Given the description of an element on the screen output the (x, y) to click on. 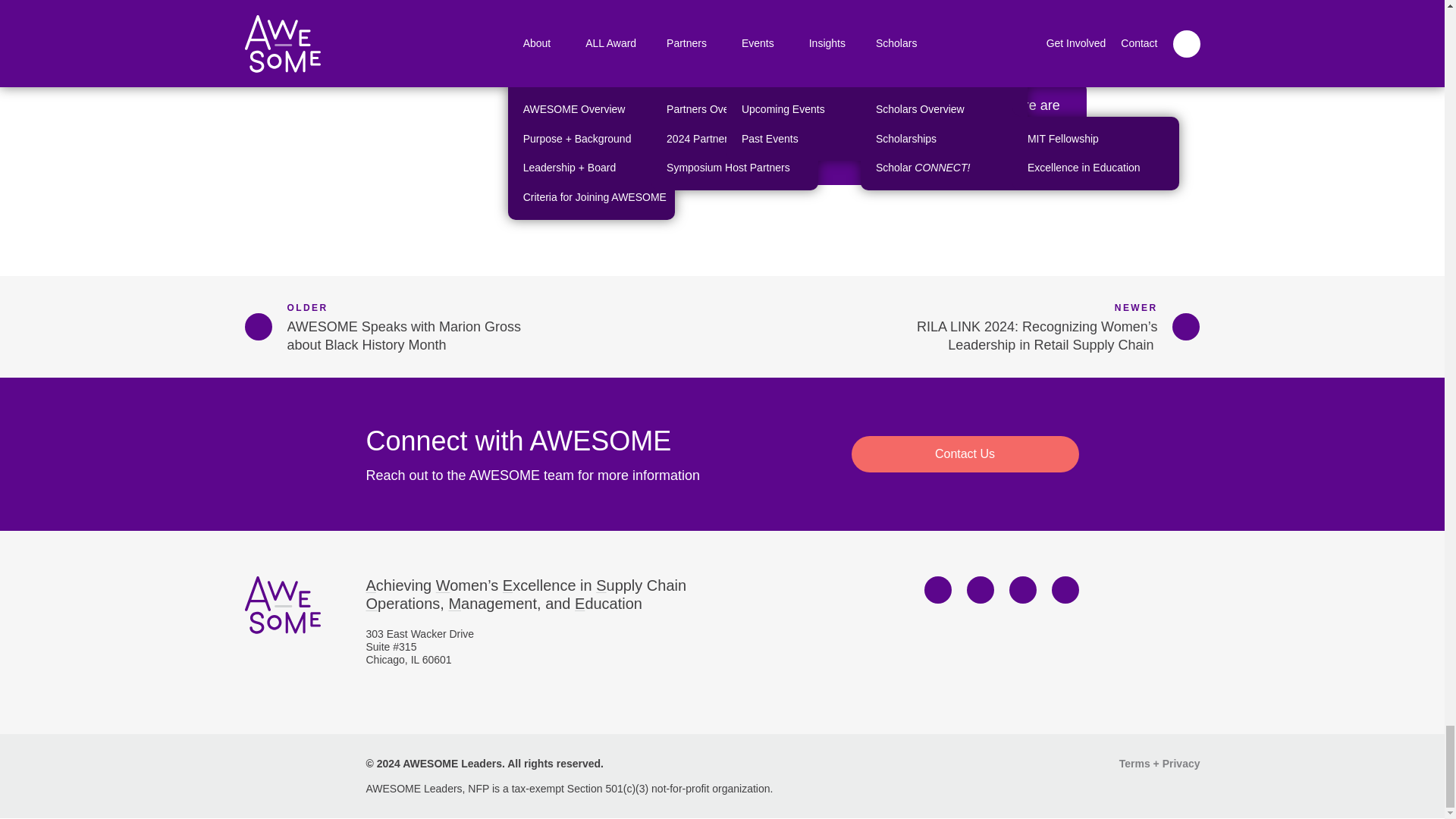
AWESOME Leaders (282, 604)
Contact Us (964, 453)
